Given the description of an element on the screen output the (x, y) to click on. 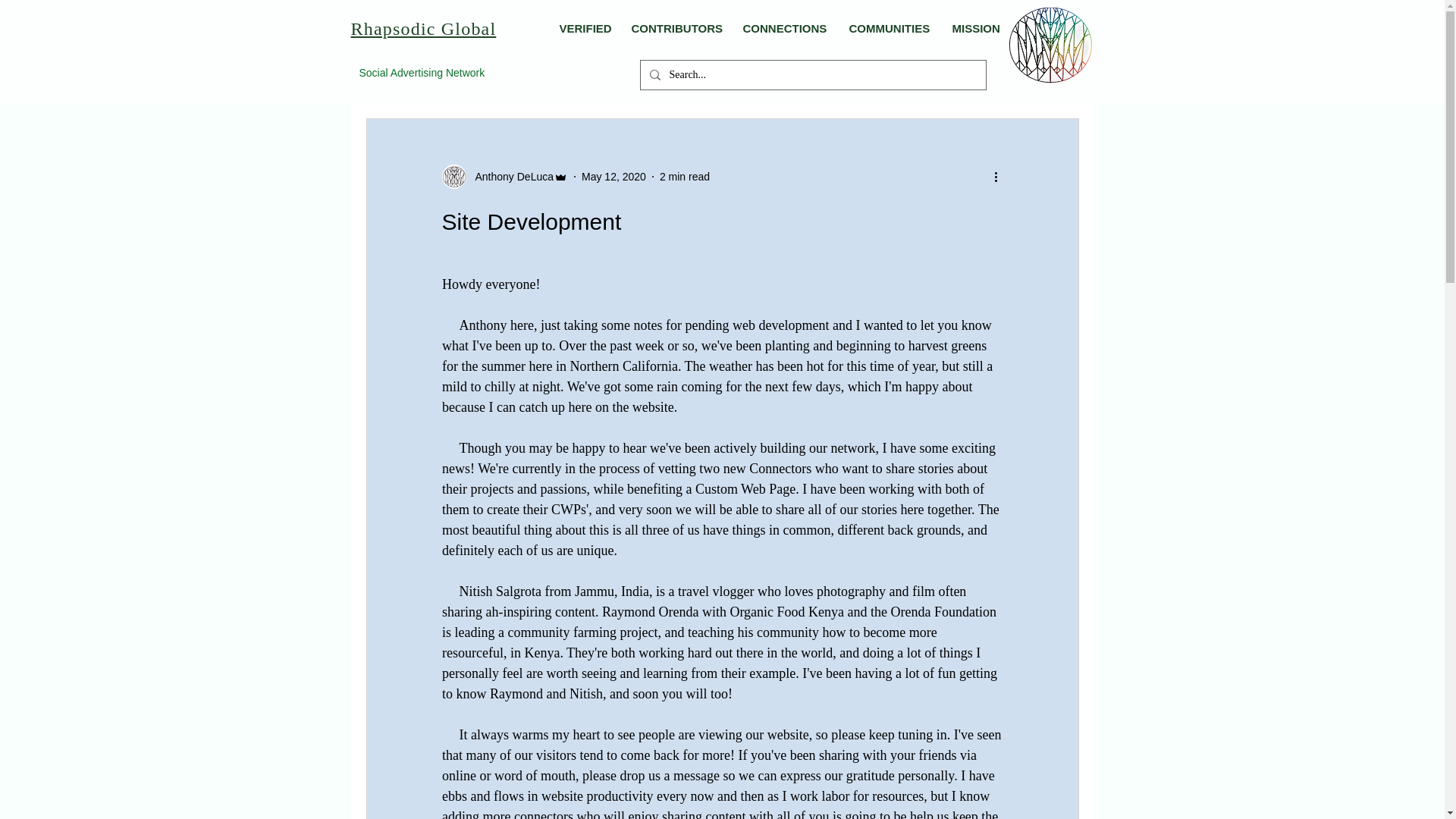
COMMUNITIES (888, 28)
May 12, 2020 (613, 175)
Rhapsodic Global (423, 28)
CONTRIBUTORS (674, 28)
VERIFIED (583, 28)
Anthony DeLuca (504, 176)
MISSION (975, 28)
2 min read (684, 175)
Anthony DeLuca (509, 176)
CONNECTIONS (783, 28)
